Given the description of an element on the screen output the (x, y) to click on. 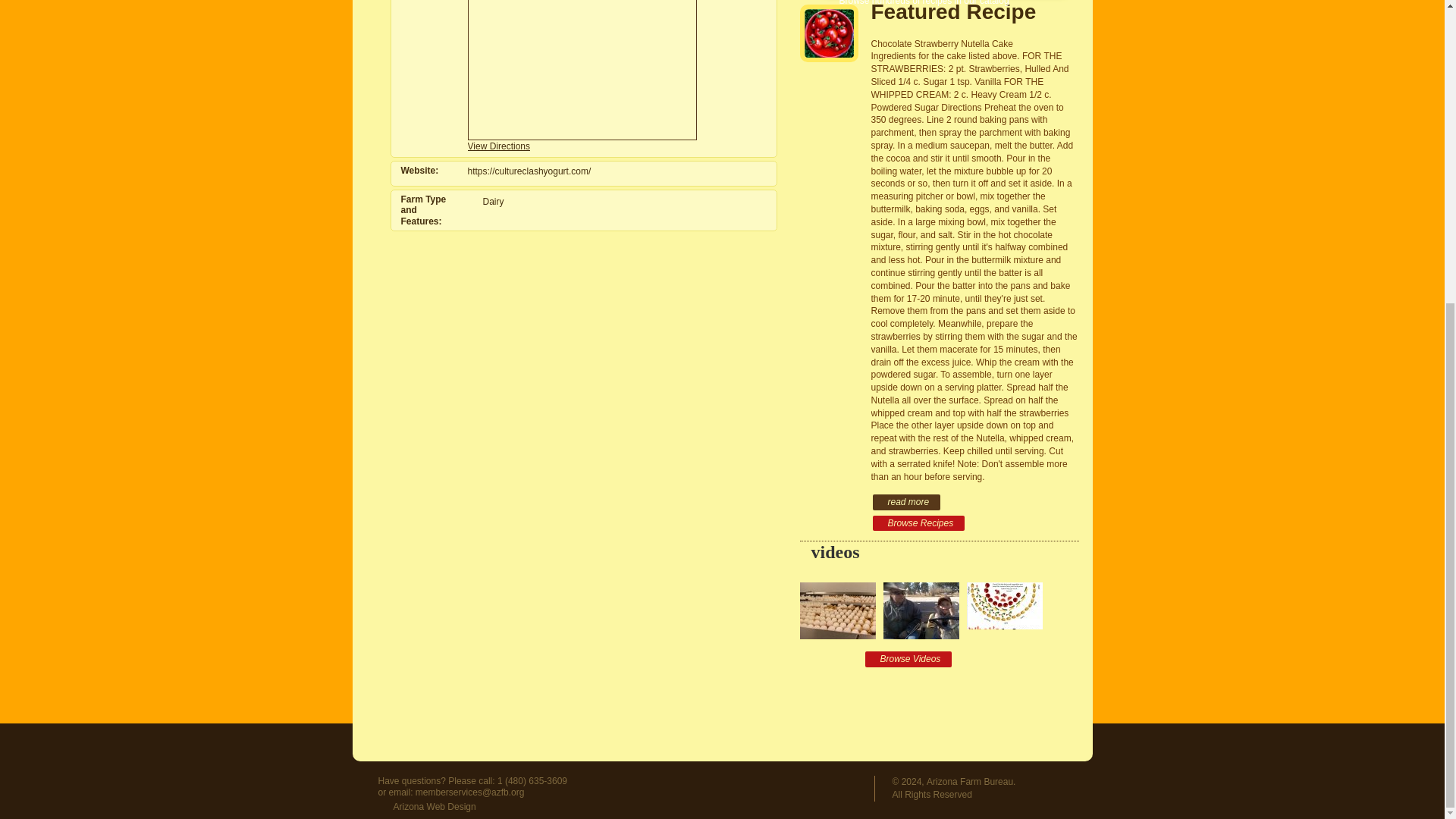
read more (906, 502)
Browse Videos (908, 659)
Browse Recipes (917, 523)
View Directions (498, 145)
